Given the description of an element on the screen output the (x, y) to click on. 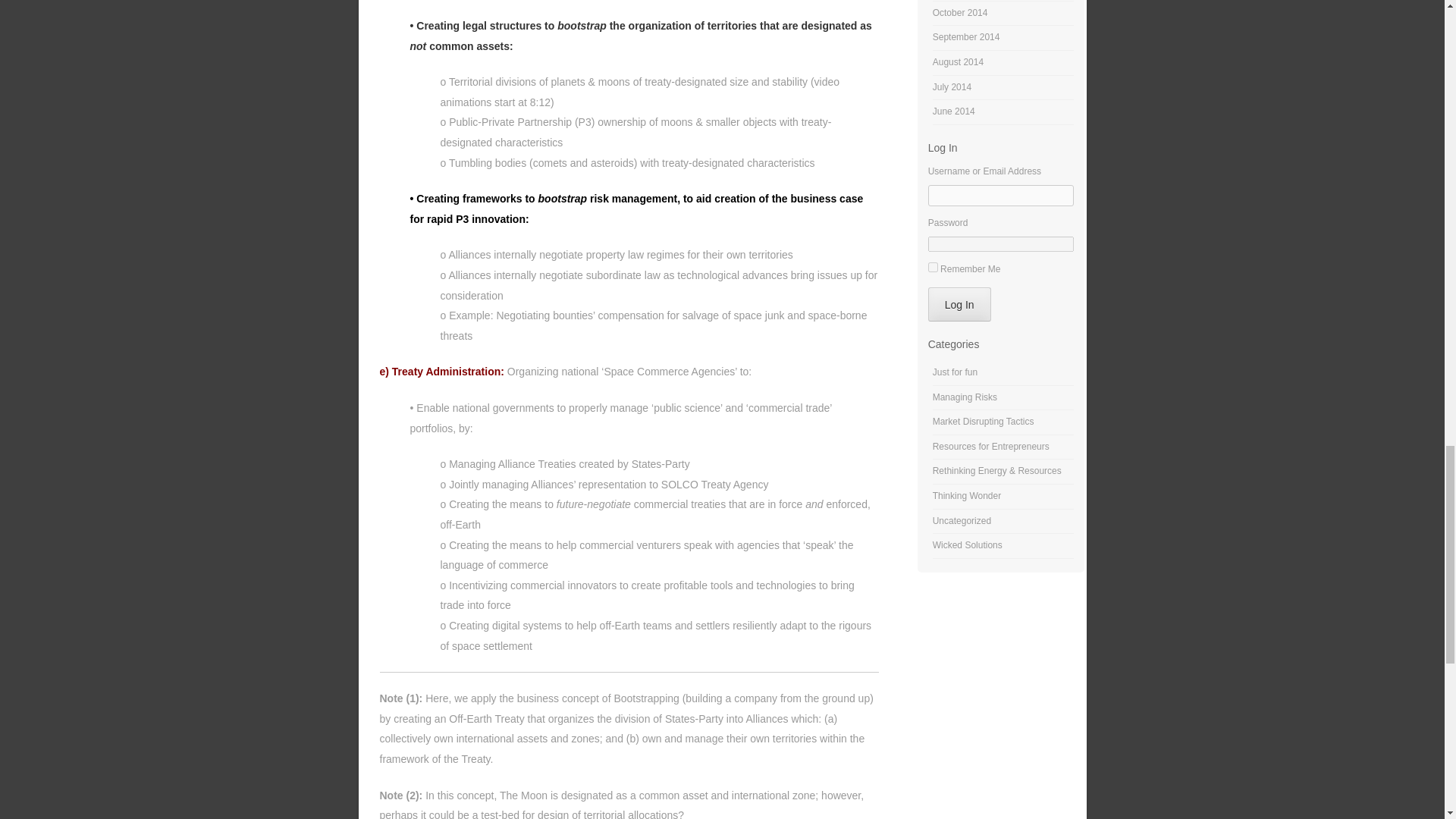
forever (932, 266)
